Given the description of an element on the screen output the (x, y) to click on. 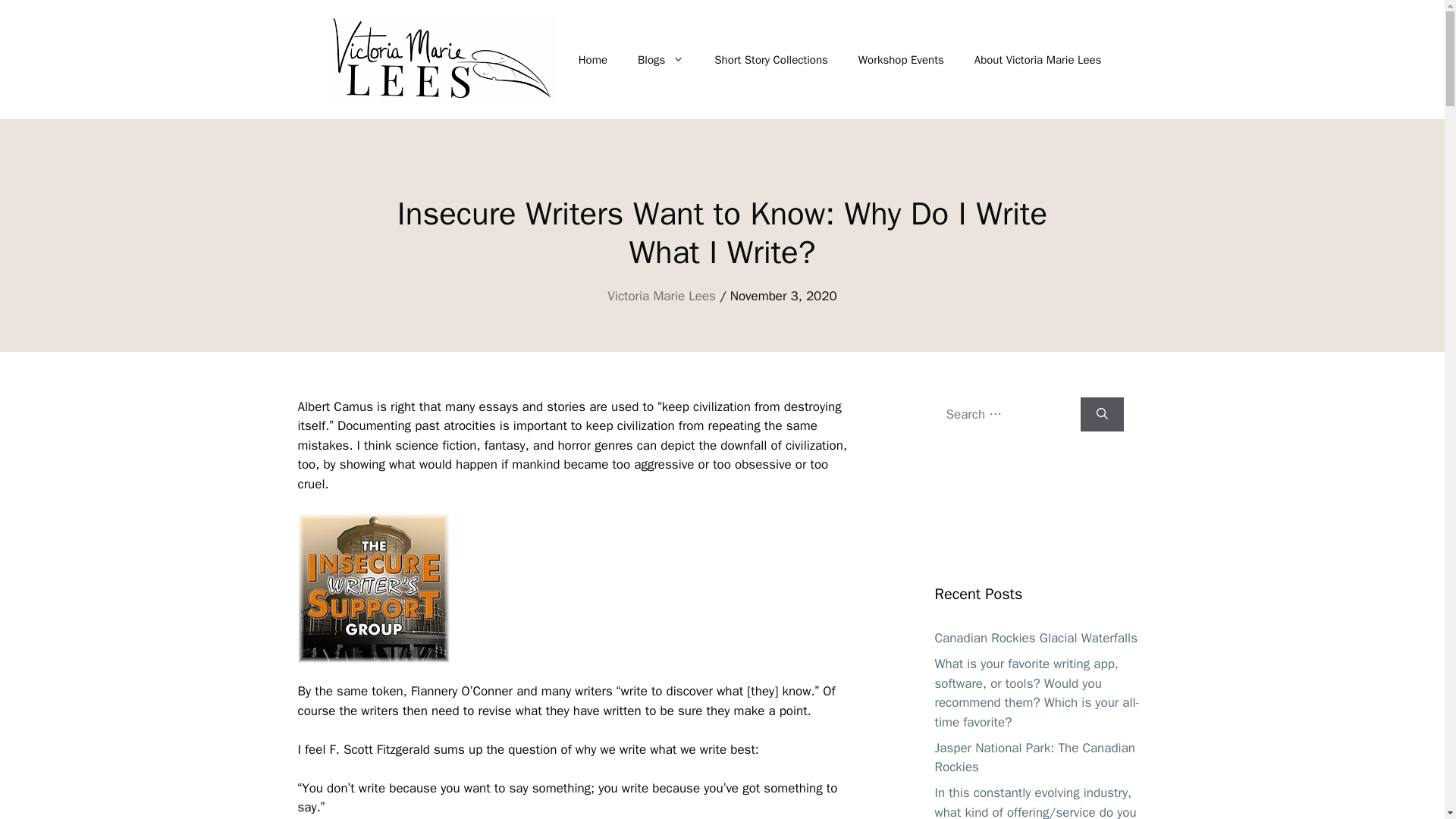
Victoria Marie Lees (661, 295)
Home (593, 59)
Search for: (1007, 414)
Blogs (660, 59)
Workshop Events (901, 59)
Short Story Collections (770, 59)
About Victoria Marie Lees (1037, 59)
